Given the description of an element on the screen output the (x, y) to click on. 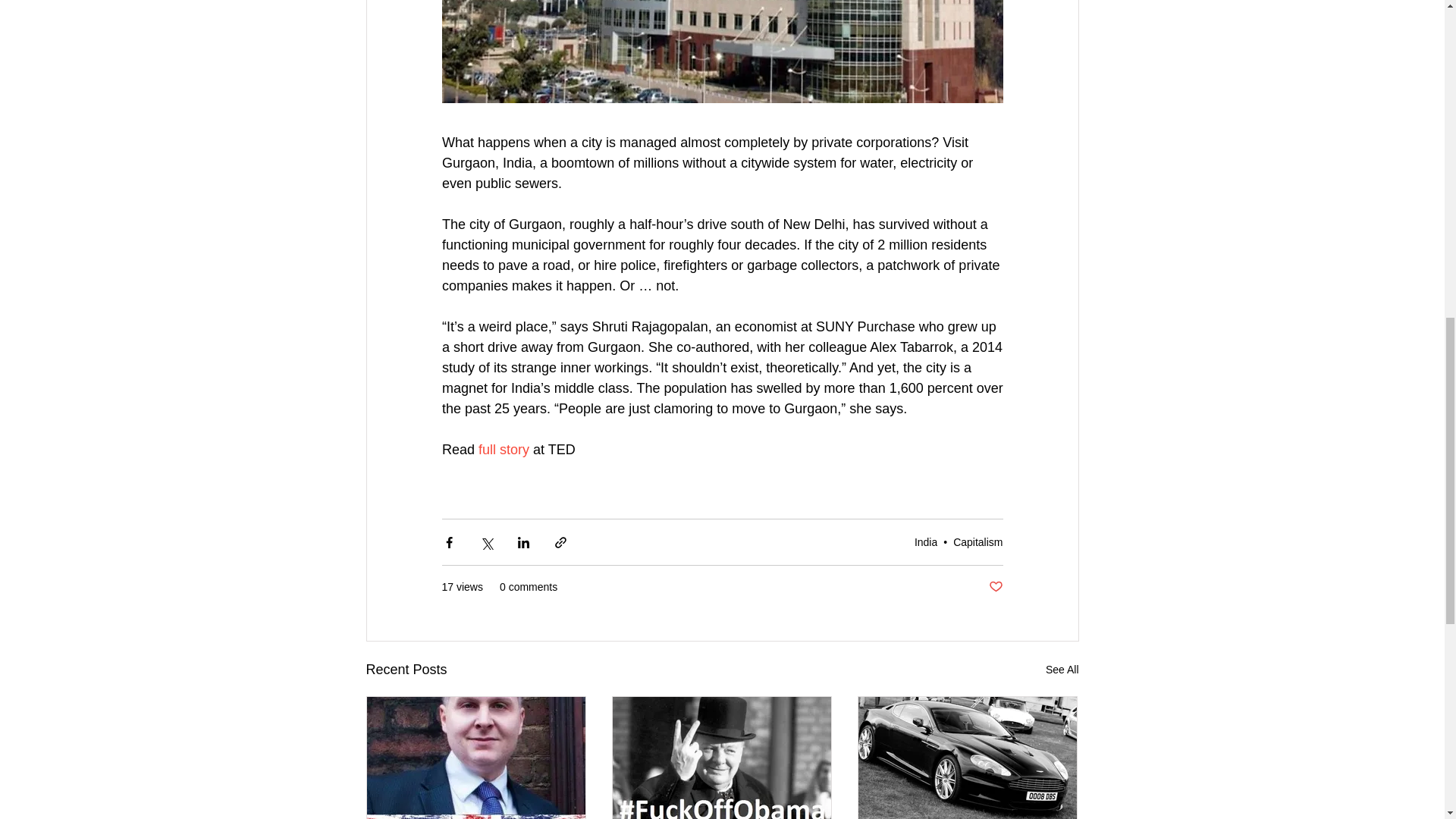
Capitalism (978, 541)
full story (504, 449)
India (925, 541)
Post not marked as liked (995, 587)
See All (1061, 669)
